Given the description of an element on the screen output the (x, y) to click on. 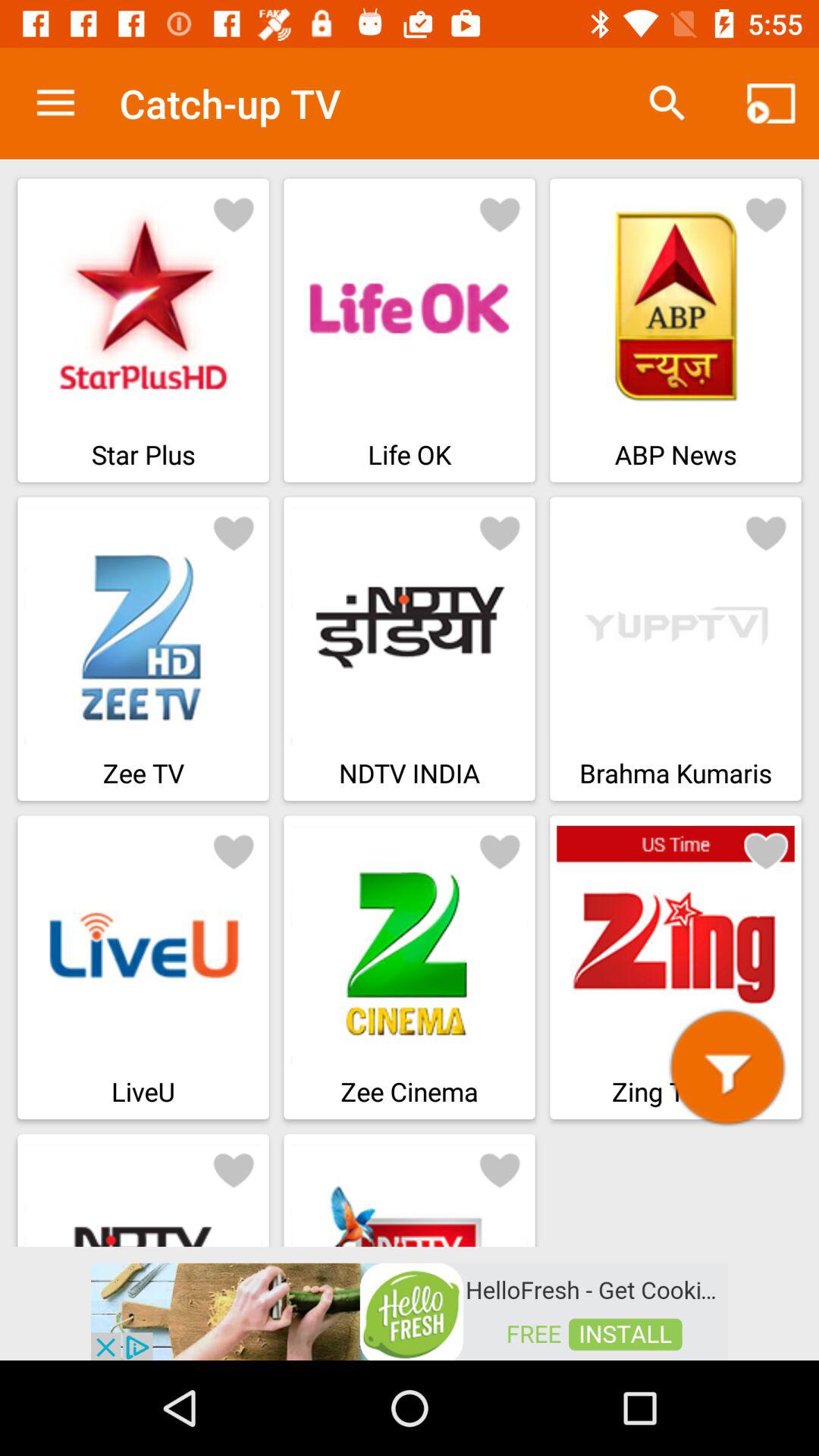
favorite (766, 213)
